Given the description of an element on the screen output the (x, y) to click on. 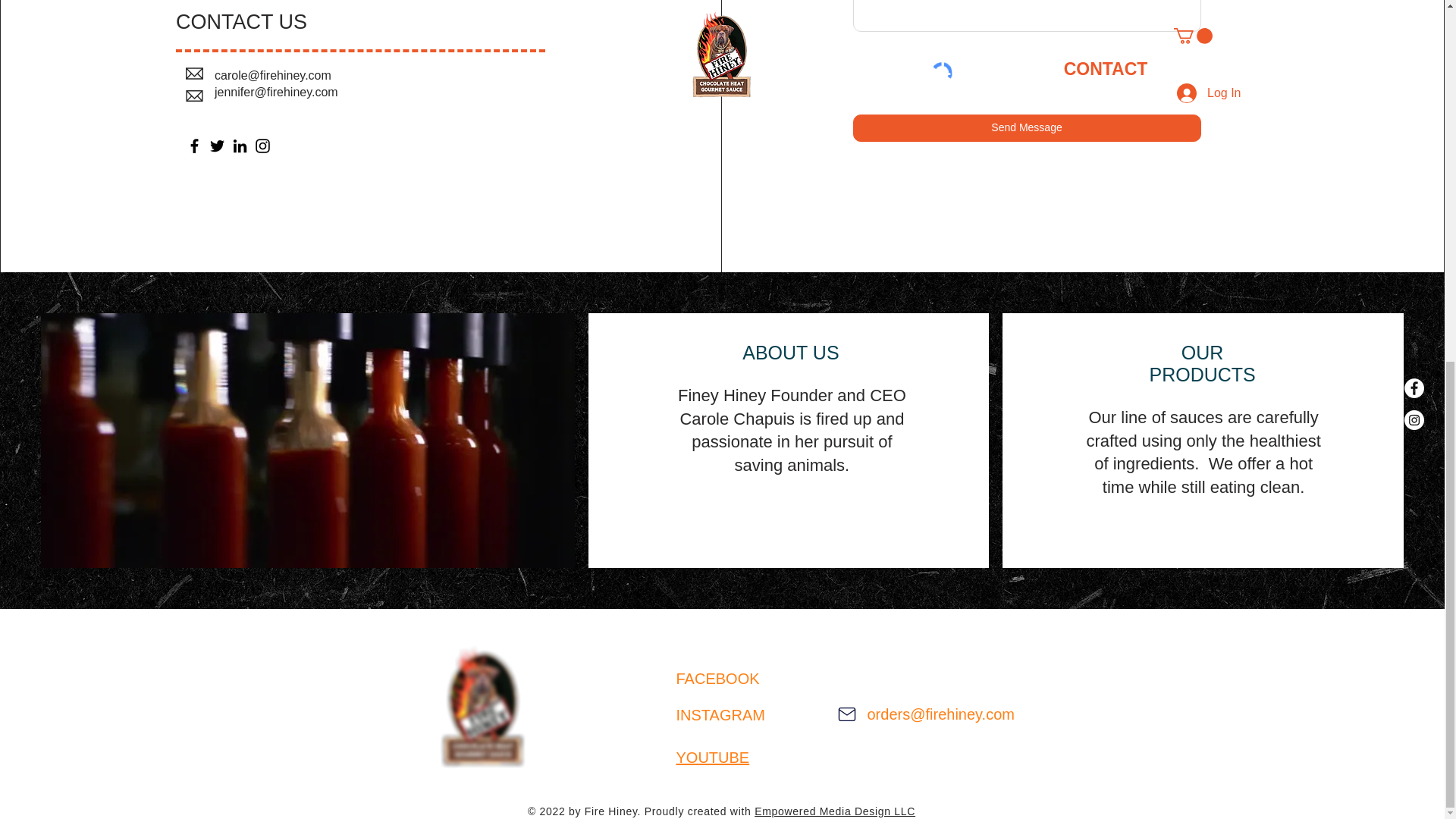
Send Message (1027, 127)
YOUTUBE (713, 757)
FACEBOOK (718, 678)
INSTAGRAM (721, 714)
Empowered Media Design LLC (834, 811)
Shop Now (778, 751)
